Given the description of an element on the screen output the (x, y) to click on. 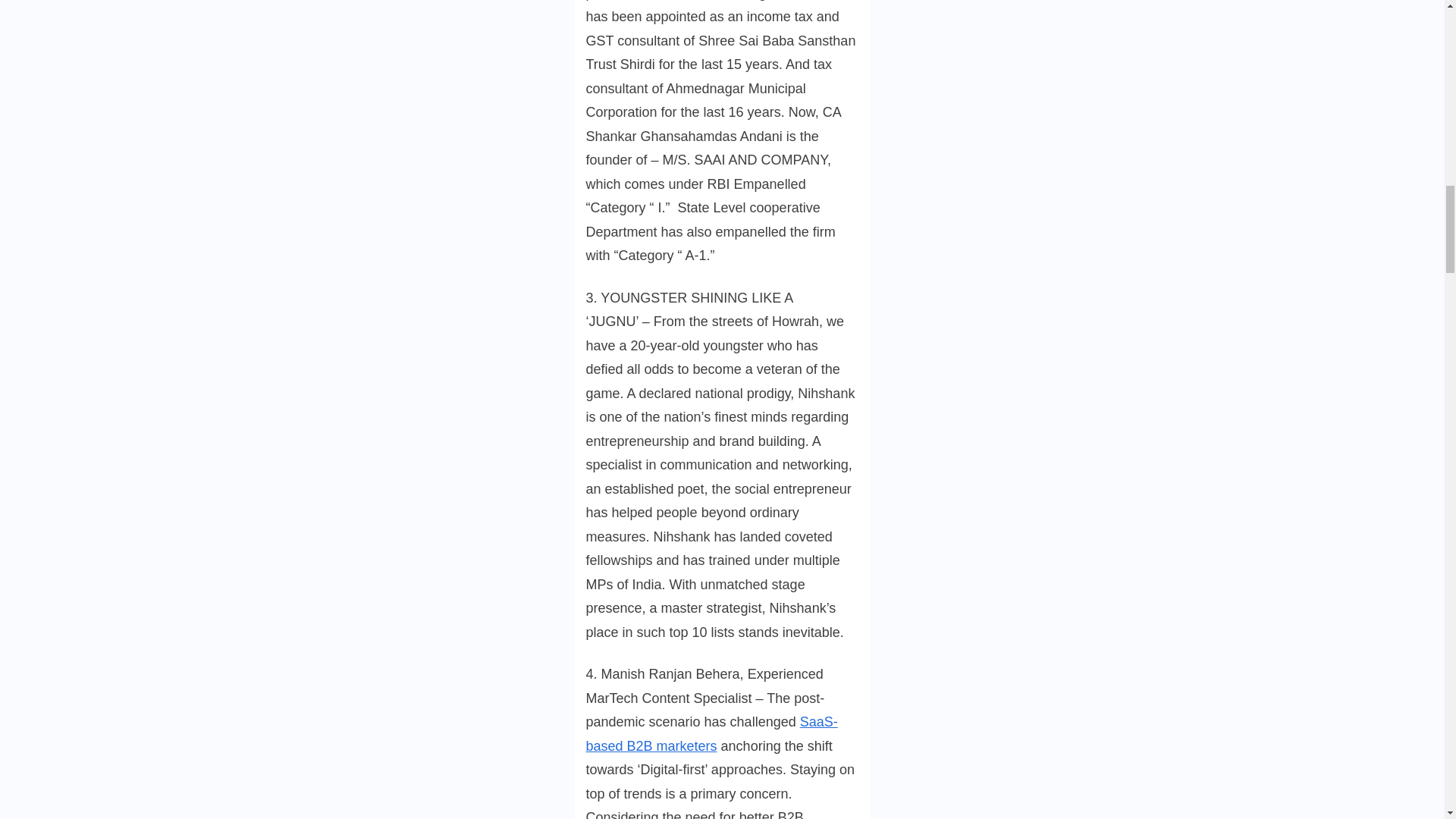
SaaS-based B2B marketers (711, 733)
